Given the description of an element on the screen output the (x, y) to click on. 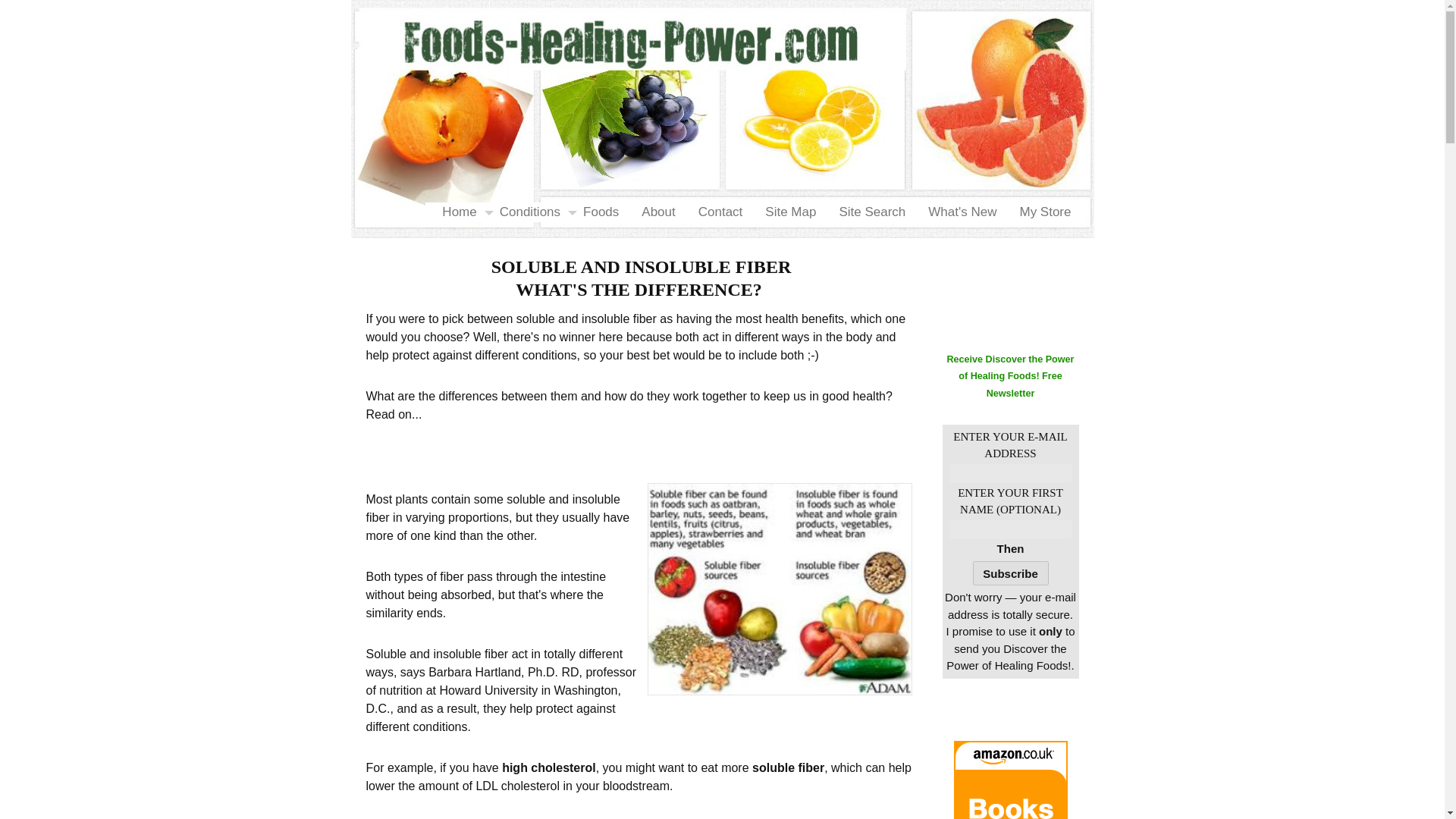
Site Search (866, 211)
Home (453, 211)
soluble and insoluble fiber (779, 589)
Subscribe (1010, 573)
Contact (715, 211)
What's New (957, 211)
Site Map (785, 211)
About (652, 211)
